Given the description of an element on the screen output the (x, y) to click on. 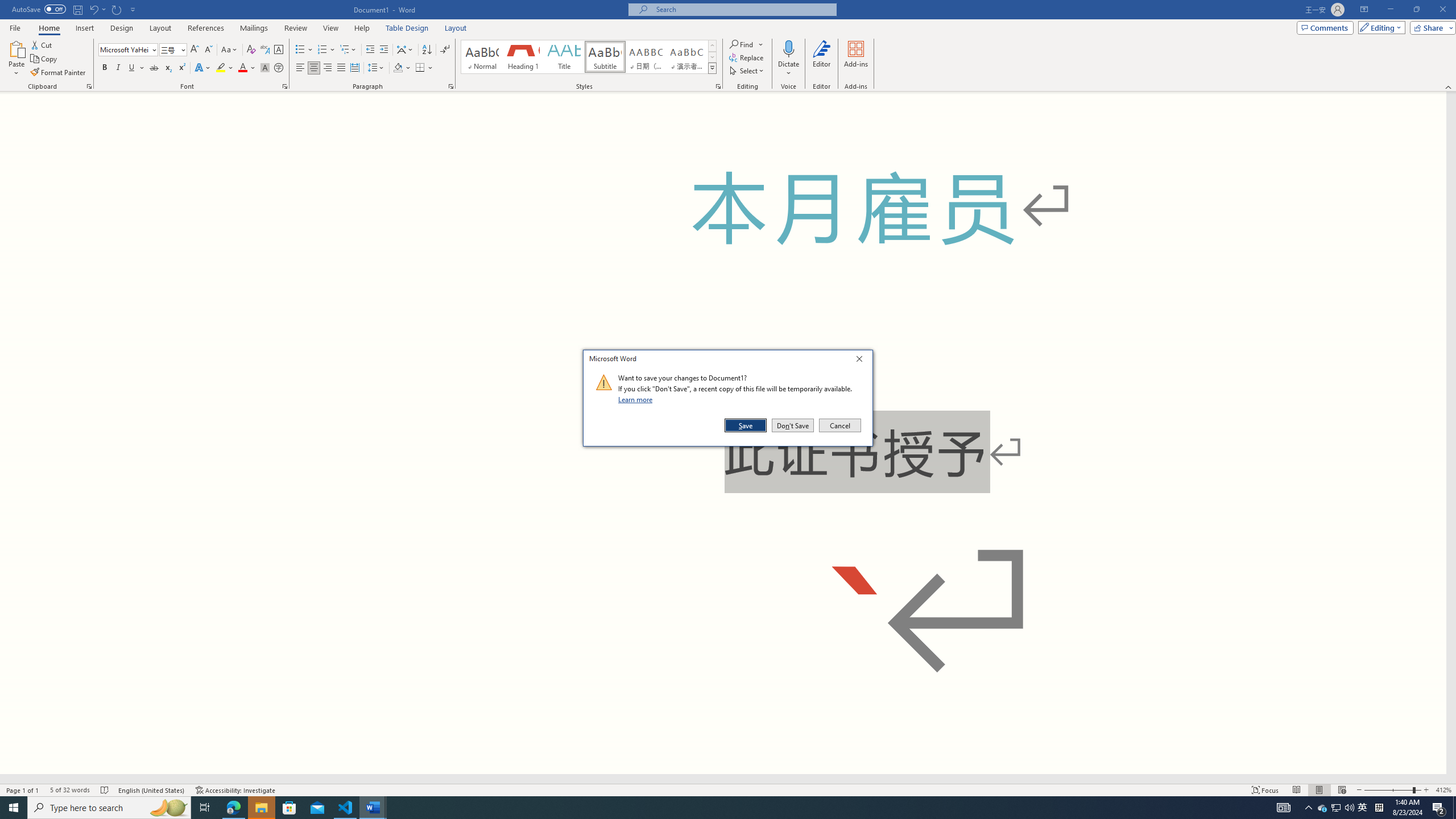
Notification Chevron (1308, 807)
Multilevel List (347, 49)
Zoom 412% (1443, 790)
Table Design (407, 28)
Superscript (180, 67)
Start (13, 807)
Action Center, 2 new notifications (1439, 807)
Format Painter (58, 72)
Subtitle (605, 56)
Replace... (747, 56)
